Given the description of an element on the screen output the (x, y) to click on. 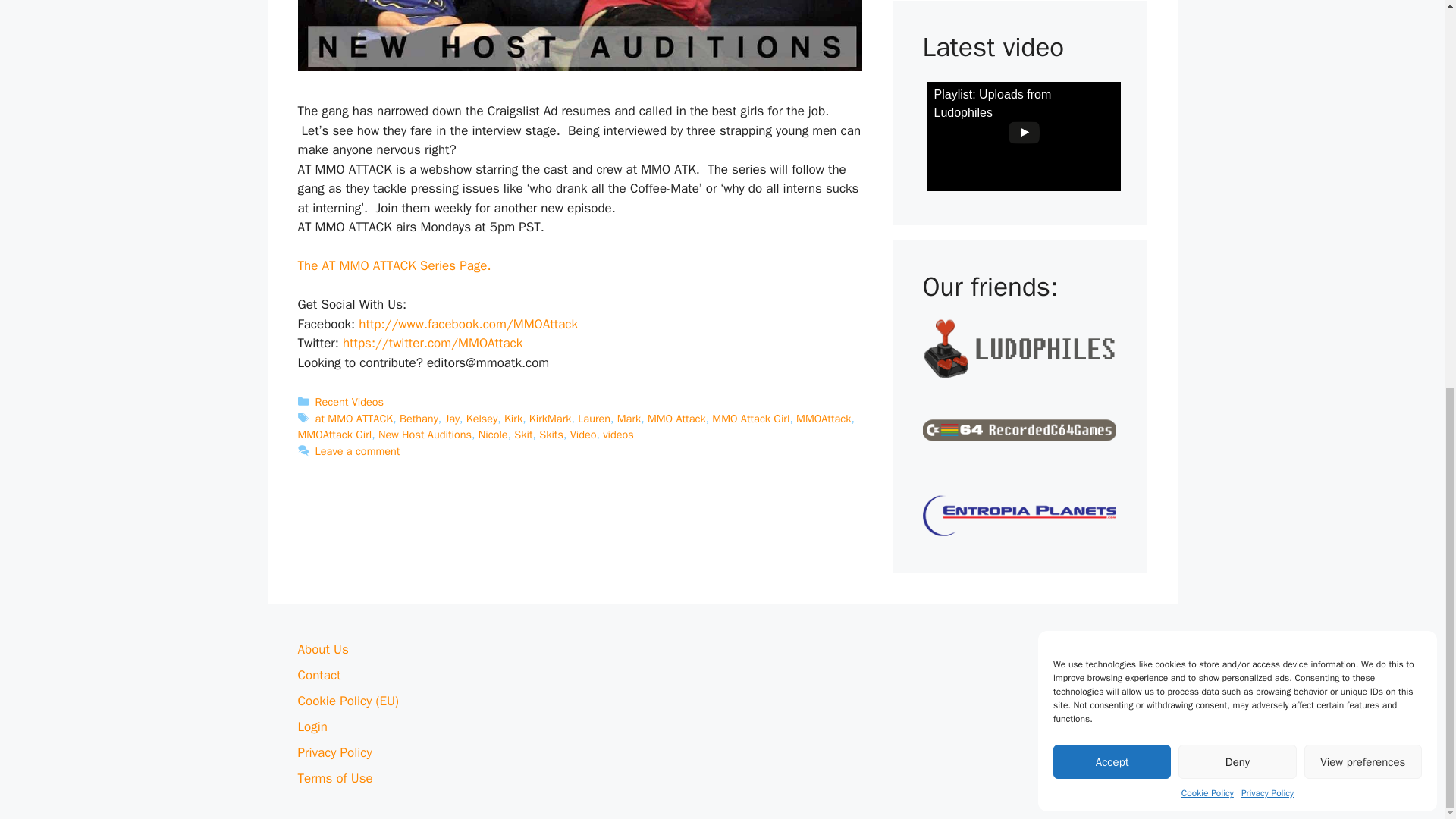
View preferences (1363, 25)
Accept (1111, 25)
Deny (1236, 25)
Link httpwwwfacebookcomMMOAttack (468, 324)
Scroll back to top (1406, 802)
AT MMO ATK YouTube Series Page (393, 265)
Cookie Policy (1206, 56)
Privacy Policy (1267, 56)
Playlist: Uploads from Ludophiles (1023, 135)
